Given the description of an element on the screen output the (x, y) to click on. 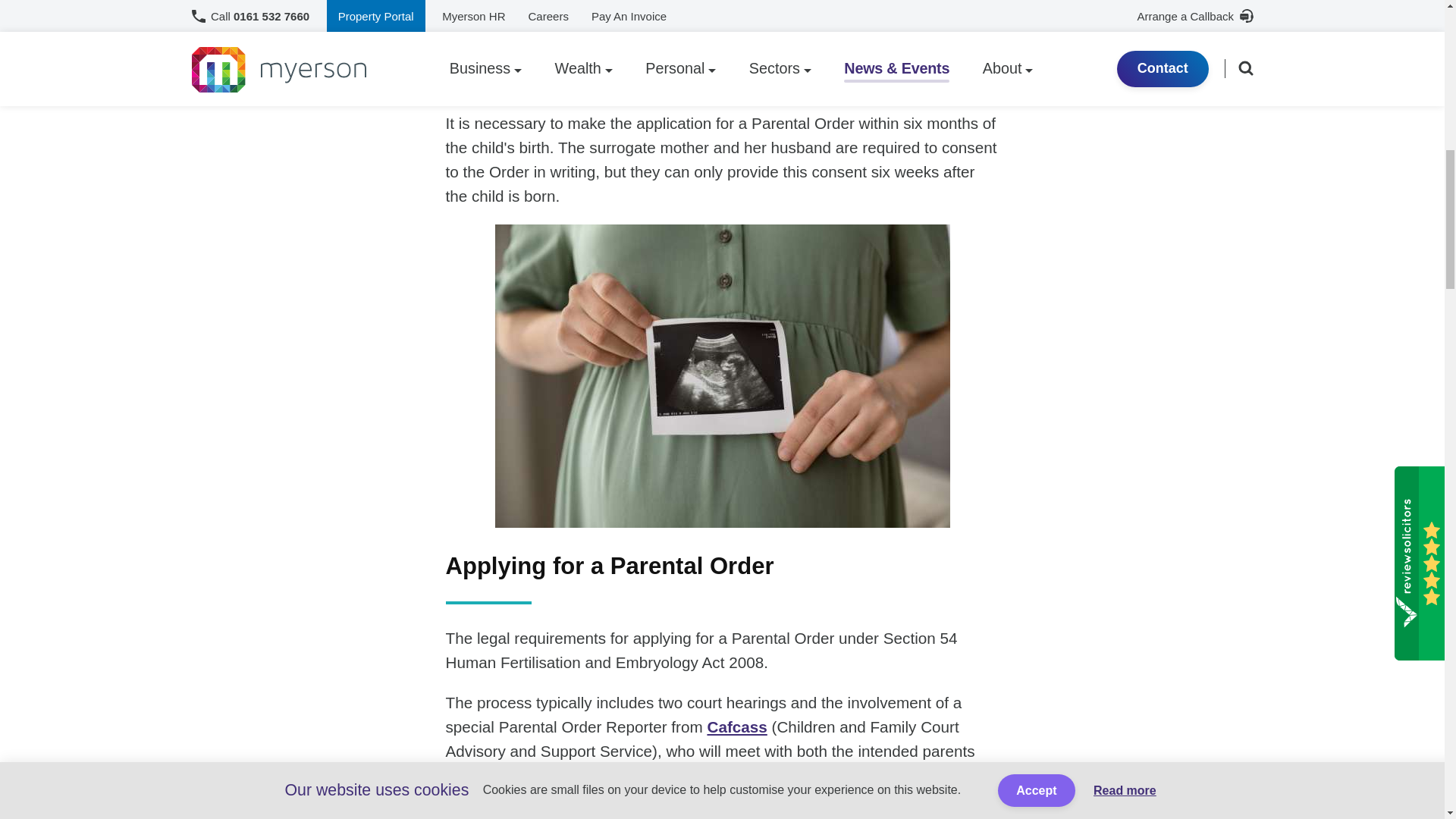
parental responsibility (834, 34)
Children and Family Court Advisory and Support Service (736, 726)
Rights as a Parent: Parental Responsibility (834, 34)
Cafcass (736, 726)
